Given the description of an element on the screen output the (x, y) to click on. 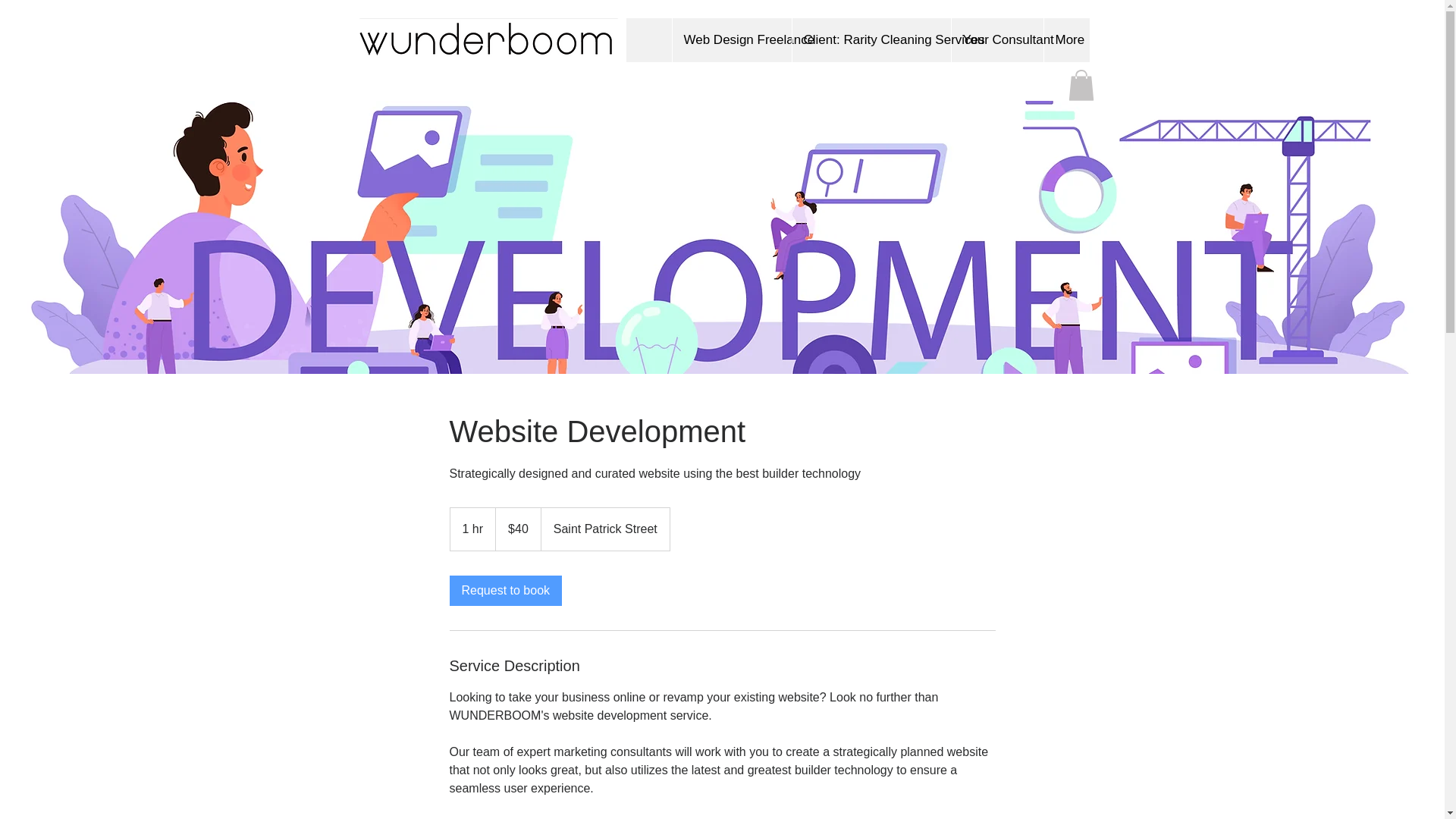
Your Consultant (996, 40)
Web Design Freelance (731, 40)
Request to book (505, 590)
Wundeboom homepage (488, 40)
Client: Rarity Cleaning Services (871, 40)
